Given the description of an element on the screen output the (x, y) to click on. 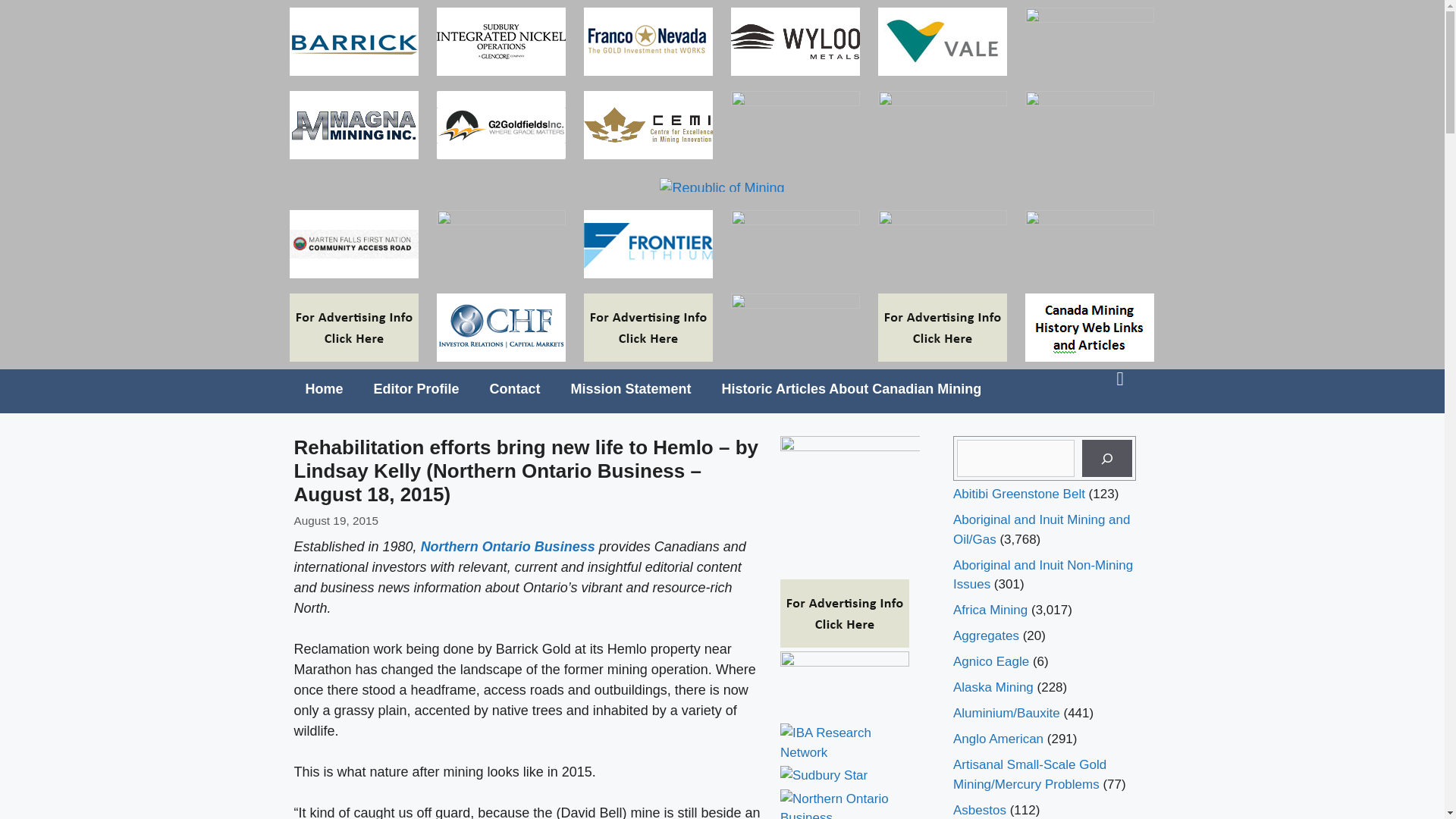
Contact (515, 388)
Home (323, 388)
Editor Profile (416, 388)
Northern Ontario Business (507, 546)
Mission Statement (631, 388)
Northern Ontario Business (507, 546)
Historic Articles About Canadian Mining (851, 388)
